Given the description of an element on the screen output the (x, y) to click on. 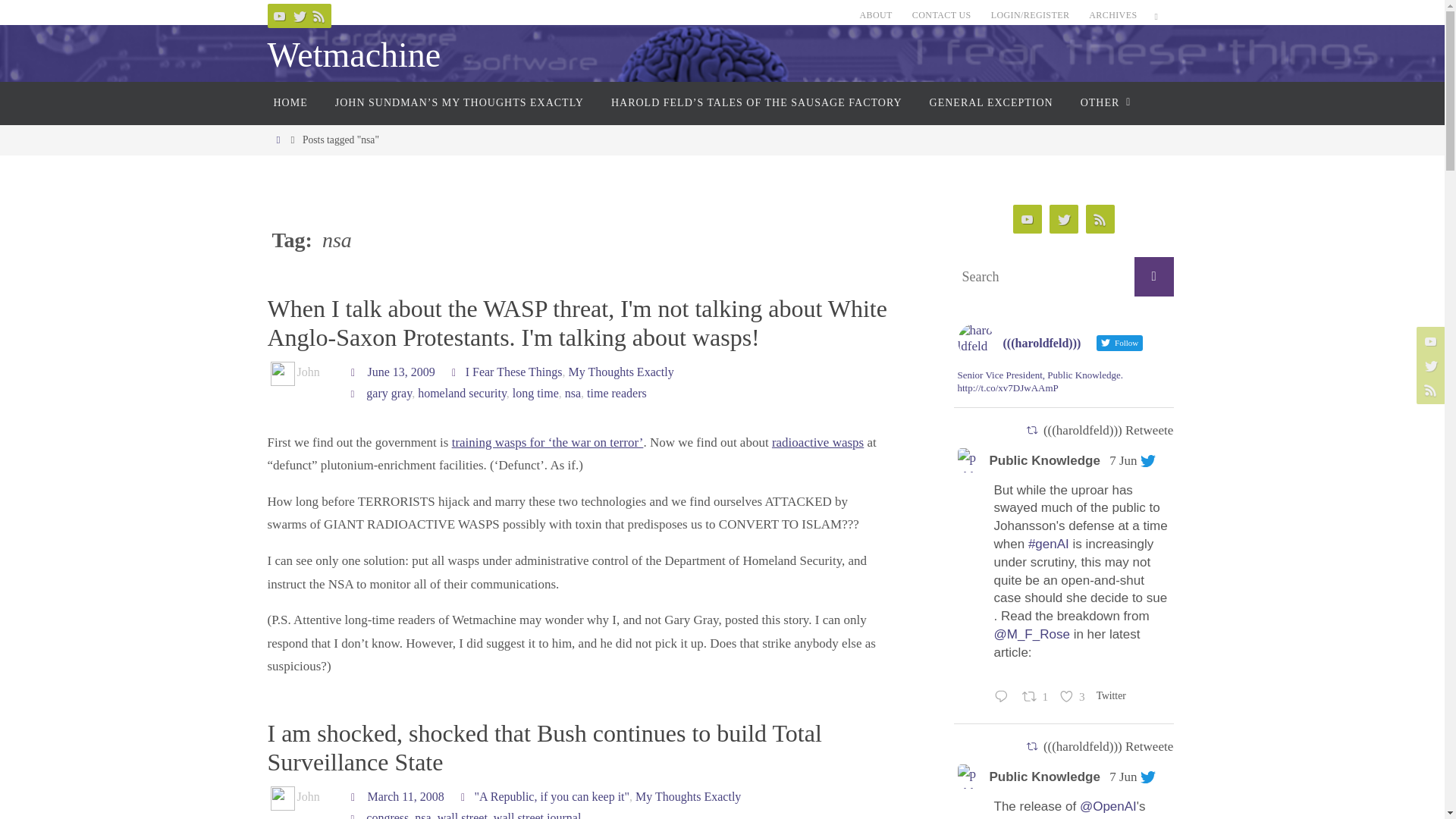
ARCHIVES (1112, 14)
YouTube (278, 15)
Home (277, 139)
nsa (572, 393)
Twitter (298, 15)
RSS (317, 15)
gary gray (389, 393)
GENERAL EXCEPTION (991, 102)
